Given the description of an element on the screen output the (x, y) to click on. 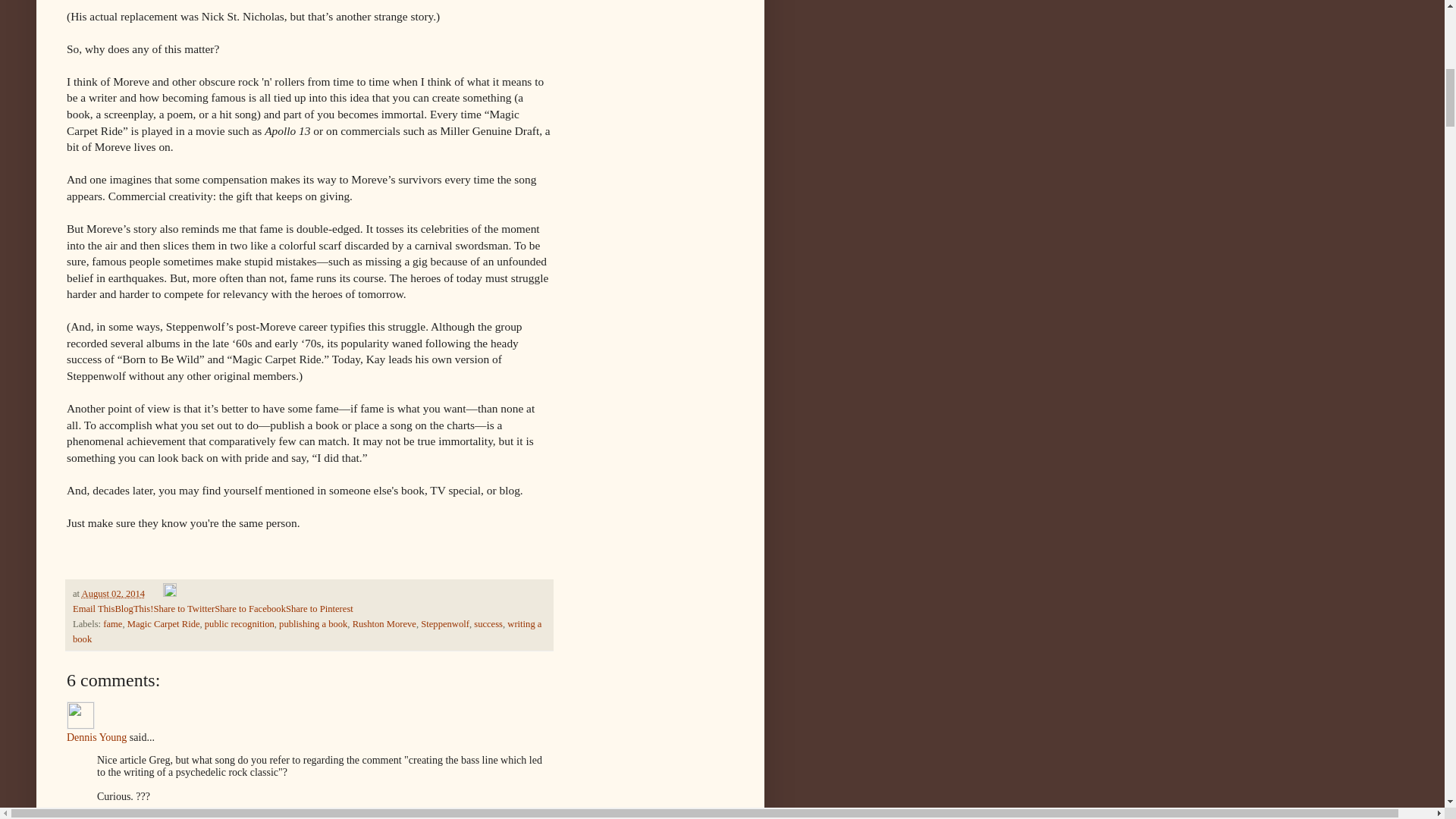
Share to Twitter (183, 608)
August 02, 2014 (113, 593)
Steppenwolf (444, 624)
fame (112, 624)
public recognition (240, 624)
Share to Twitter (183, 608)
BlogThis! (133, 608)
Share to Pinterest (319, 608)
Share to Facebook (249, 608)
comment permalink (158, 817)
writing a book (306, 631)
permanent link (113, 593)
Email This (93, 608)
